Given the description of an element on the screen output the (x, y) to click on. 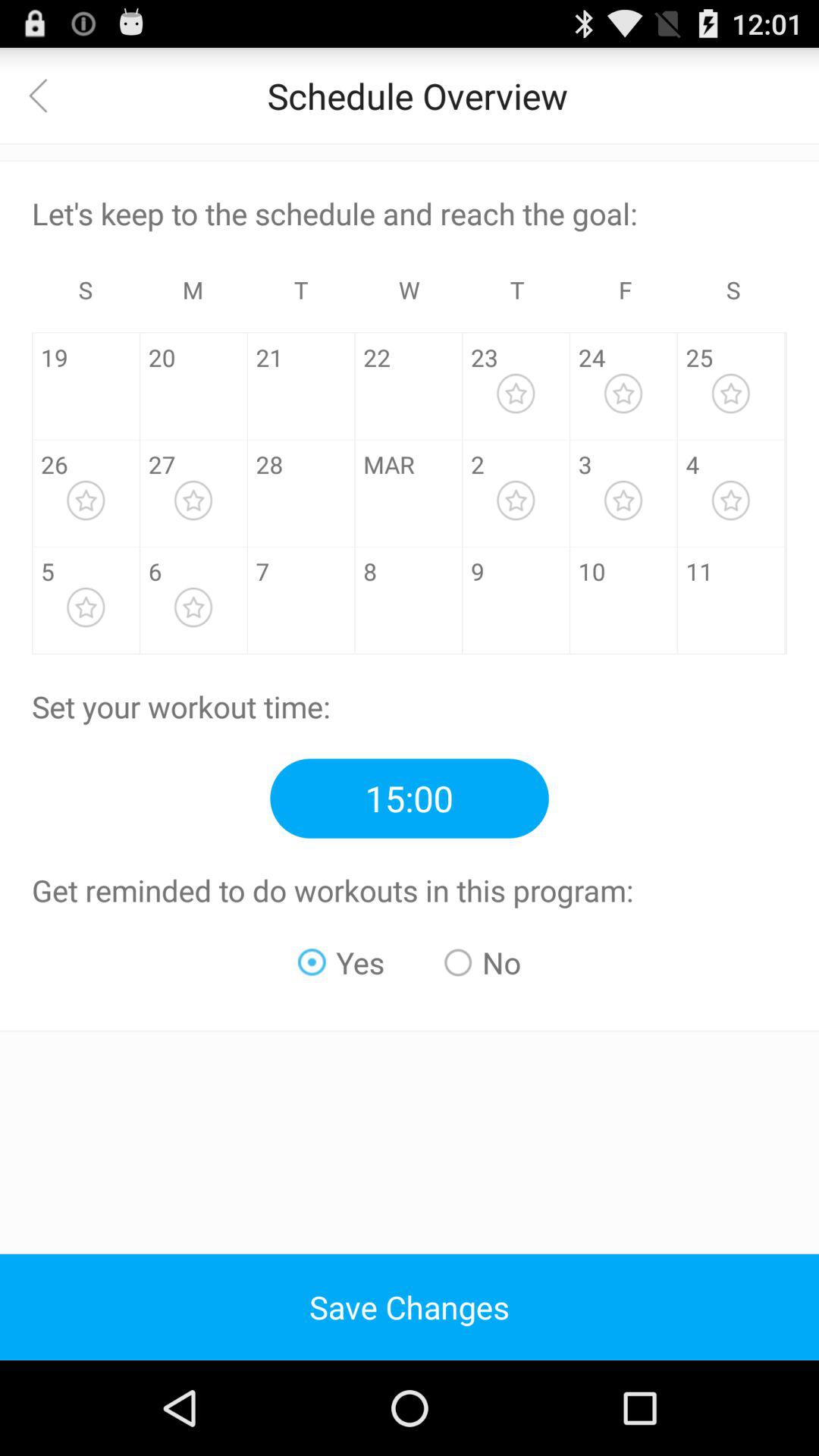
select the item below the get reminded to icon (482, 962)
